Given the description of an element on the screen output the (x, y) to click on. 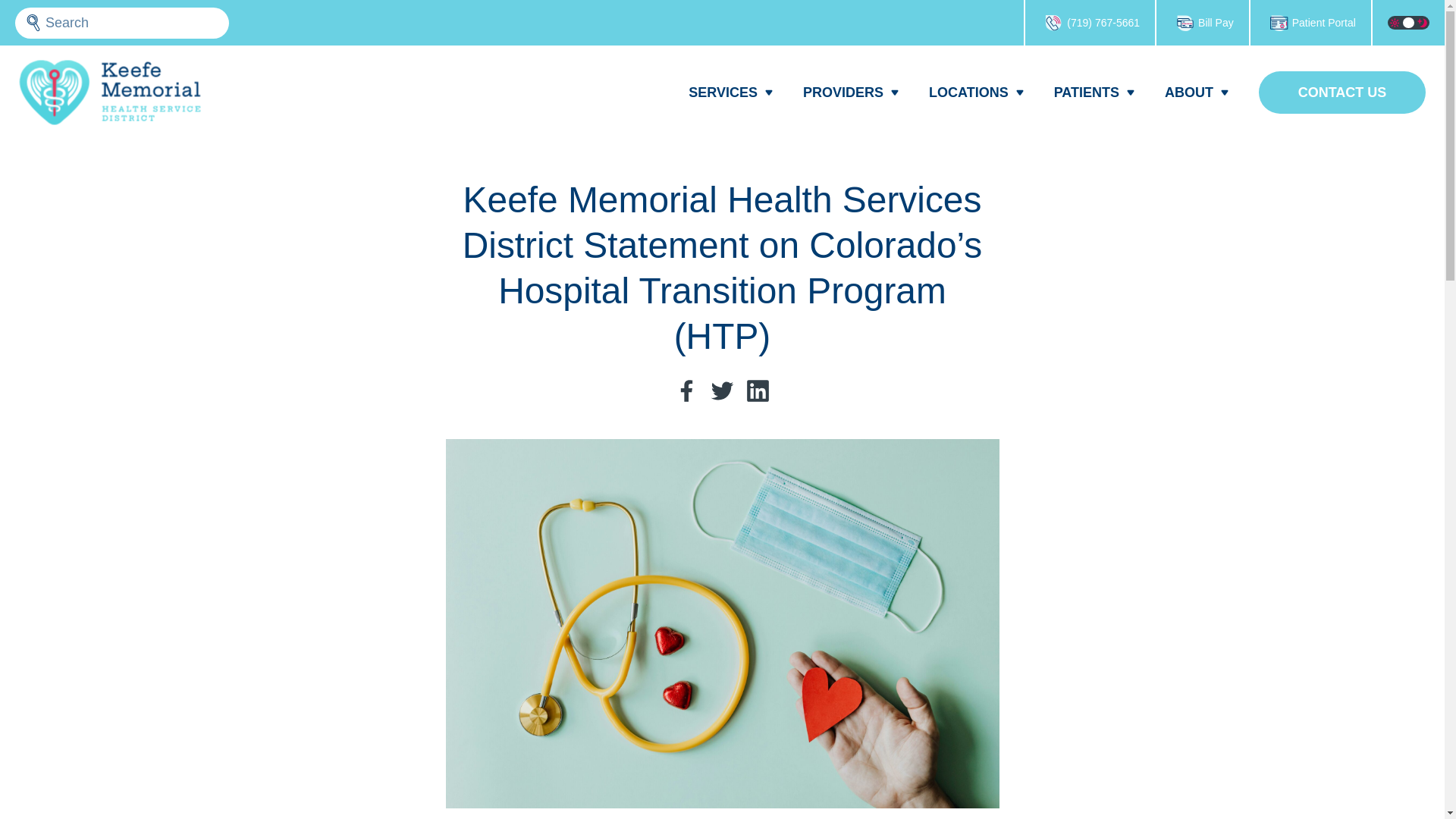
Patient Portal (1310, 22)
PROVIDERS (847, 92)
Permanently set to dark mode (1422, 22)
Switch between light and dark mode based on system presence (1407, 22)
SERVICES (726, 92)
Bill Pay (1202, 22)
Search (33, 22)
Permanently set to light mode (1393, 22)
